Given the description of an element on the screen output the (x, y) to click on. 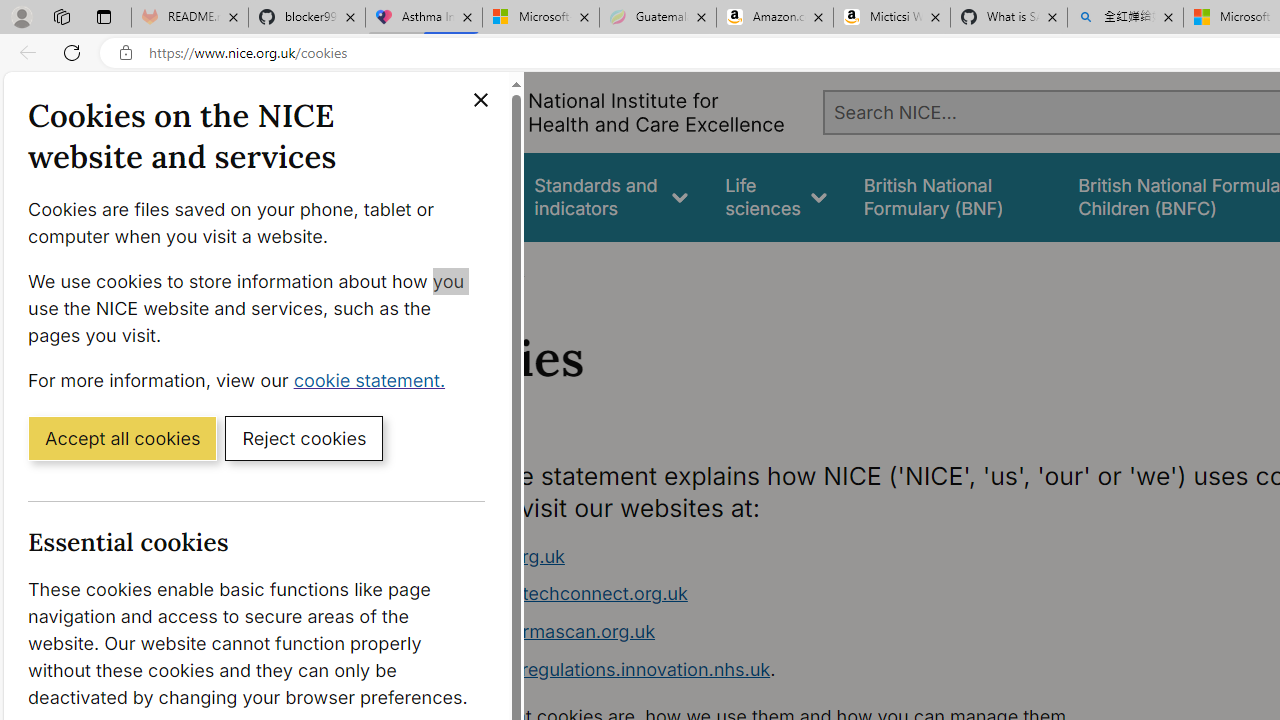
Reject cookies (304, 437)
Close cookie banner (480, 99)
Life sciences (776, 196)
false (952, 196)
Life sciences (776, 196)
www.digitalregulations.innovation.nhs.uk. (796, 669)
Asthma Inhalers: Names and Types (424, 17)
Home (424, 268)
Home> (433, 268)
www.ukpharmascan.org.uk (538, 631)
